Given the description of an element on the screen output the (x, y) to click on. 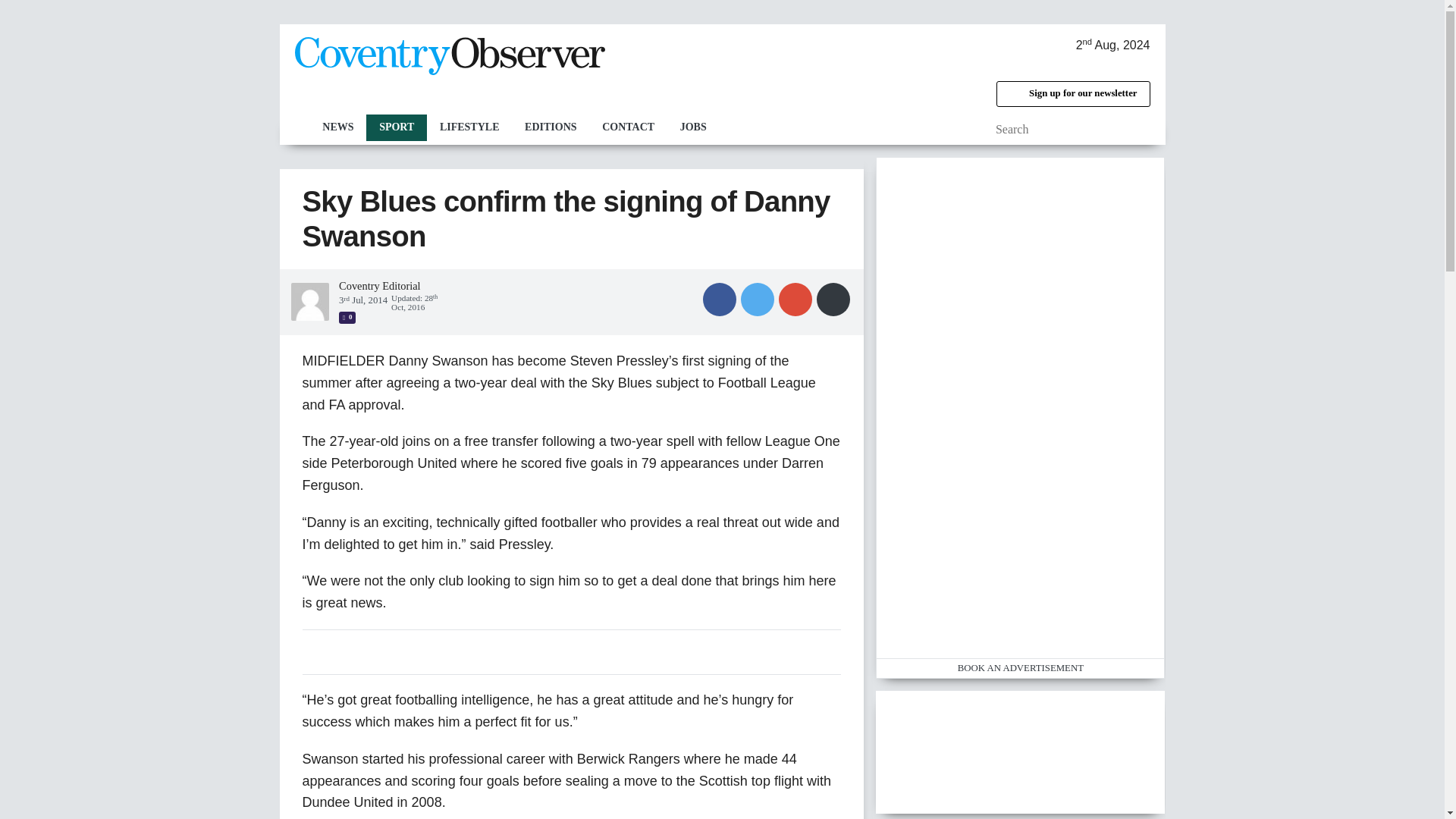
  Sign up for our newsletter (1072, 94)
CONTACT (627, 127)
SPORT (396, 127)
EDITIONS (550, 127)
The Coventry Observer (449, 55)
NEWS (337, 127)
LIFESTYLE (469, 127)
JOBS (692, 127)
